Given the description of an element on the screen output the (x, y) to click on. 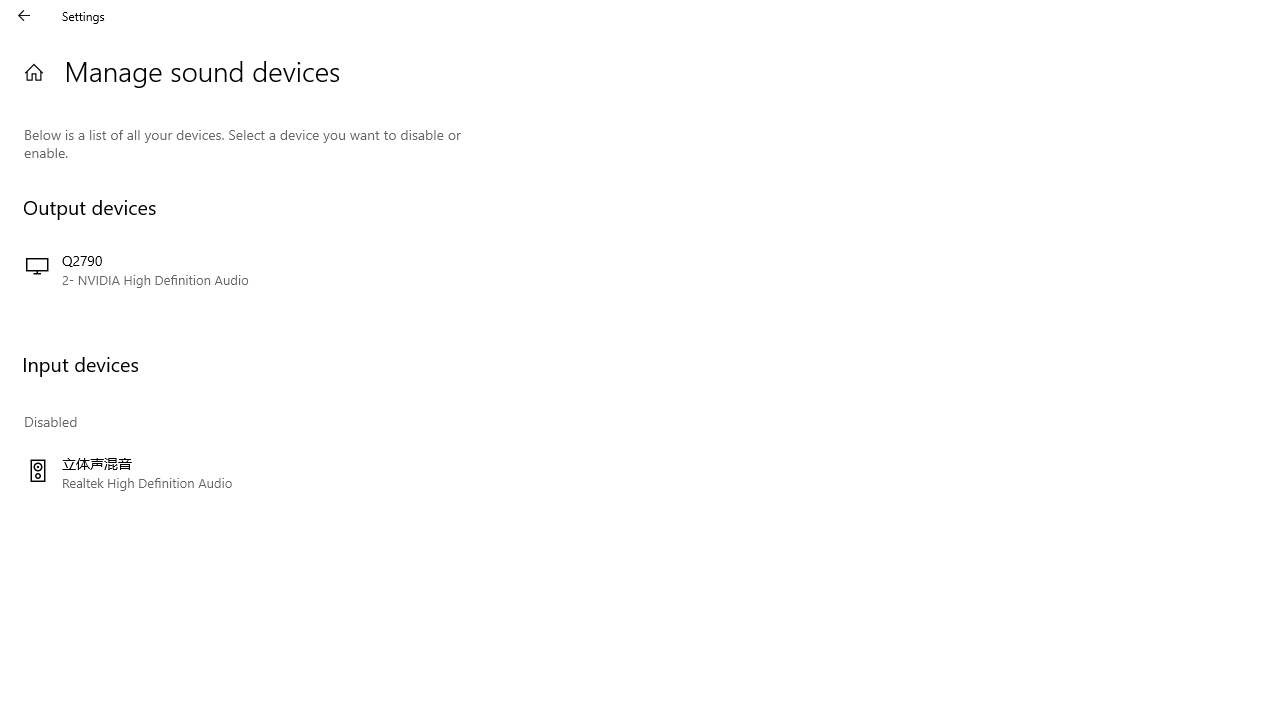
Q2790 2- NVIDIA High Definition Audio (243, 269)
Back (24, 15)
Home (33, 71)
